Given the description of an element on the screen output the (x, y) to click on. 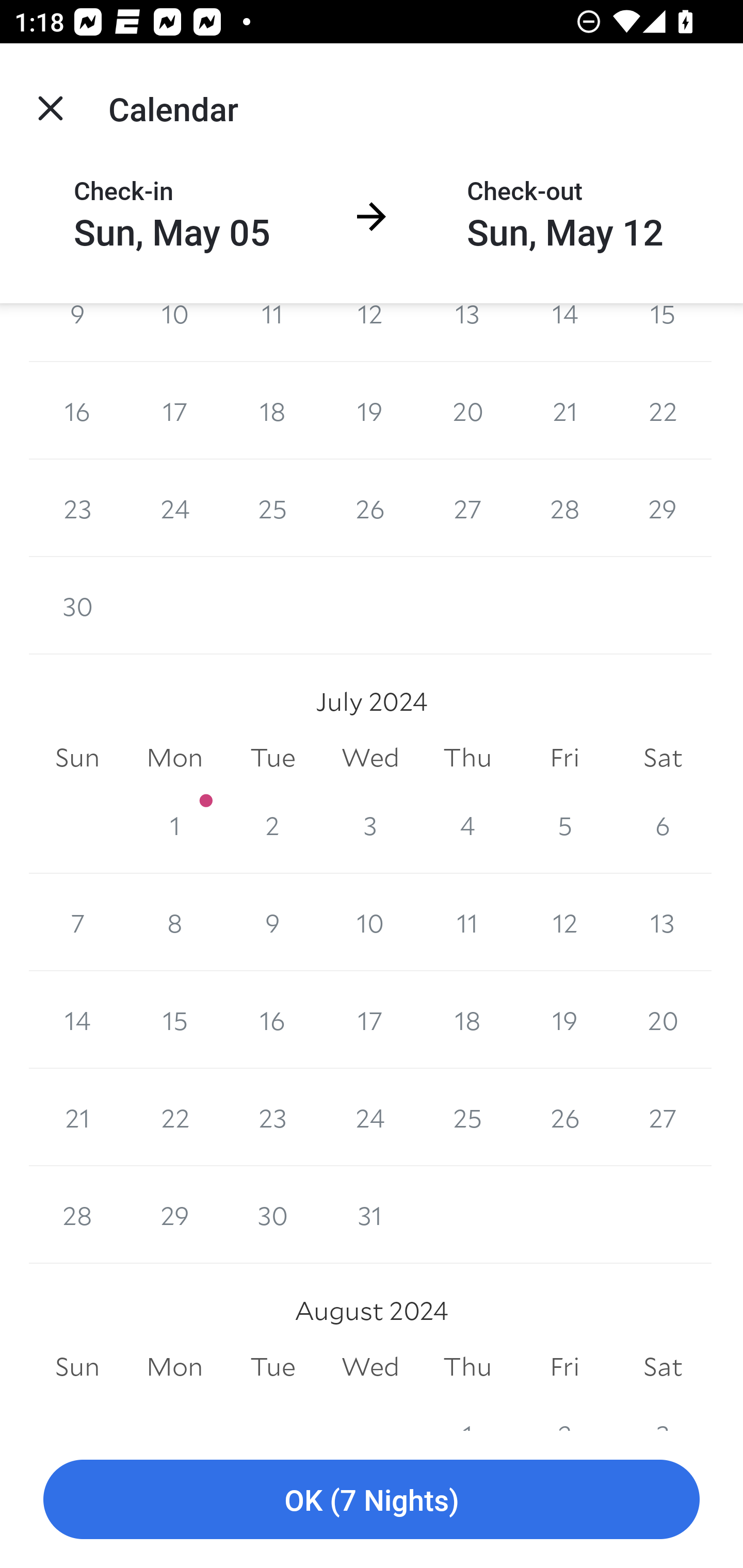
9 9 June 2024 (77, 332)
10 10 June 2024 (174, 332)
11 11 June 2024 (272, 332)
12 12 June 2024 (370, 332)
13 13 June 2024 (467, 332)
14 14 June 2024 (564, 332)
15 15 June 2024 (662, 332)
16 16 June 2024 (77, 410)
17 17 June 2024 (174, 410)
18 18 June 2024 (272, 410)
19 19 June 2024 (370, 410)
20 20 June 2024 (467, 410)
21 21 June 2024 (564, 410)
22 22 June 2024 (662, 410)
23 23 June 2024 (77, 507)
24 24 June 2024 (174, 507)
25 25 June 2024 (272, 507)
26 26 June 2024 (370, 507)
27 27 June 2024 (467, 507)
28 28 June 2024 (564, 507)
29 29 June 2024 (662, 507)
30 30 June 2024 (77, 604)
Sun (77, 757)
Mon (174, 757)
Tue (272, 757)
Wed (370, 757)
Thu (467, 757)
Fri (564, 757)
Sat (662, 757)
1 1 July 2024 (174, 824)
2 2 July 2024 (272, 824)
3 3 July 2024 (370, 824)
4 4 July 2024 (467, 824)
5 5 July 2024 (564, 824)
6 6 July 2024 (662, 824)
7 7 July 2024 (77, 921)
8 8 July 2024 (174, 921)
9 9 July 2024 (272, 921)
10 10 July 2024 (370, 921)
11 11 July 2024 (467, 921)
12 12 July 2024 (564, 921)
13 13 July 2024 (662, 921)
14 14 July 2024 (77, 1019)
15 15 July 2024 (174, 1019)
16 16 July 2024 (272, 1019)
17 17 July 2024 (370, 1019)
18 18 July 2024 (467, 1019)
19 19 July 2024 (564, 1019)
20 20 July 2024 (662, 1019)
21 21 July 2024 (77, 1117)
22 22 July 2024 (174, 1117)
23 23 July 2024 (272, 1117)
24 24 July 2024 (370, 1117)
25 25 July 2024 (467, 1117)
26 26 July 2024 (564, 1117)
27 27 July 2024 (662, 1117)
28 28 July 2024 (77, 1214)
29 29 July 2024 (174, 1214)
30 30 July 2024 (272, 1214)
31 31 July 2024 (370, 1214)
Sun (77, 1367)
Mon (174, 1367)
Tue (272, 1367)
Wed (370, 1367)
Thu (467, 1367)
Fri (564, 1367)
Sat (662, 1367)
OK (7 Nights) (371, 1499)
